Given the description of an element on the screen output the (x, y) to click on. 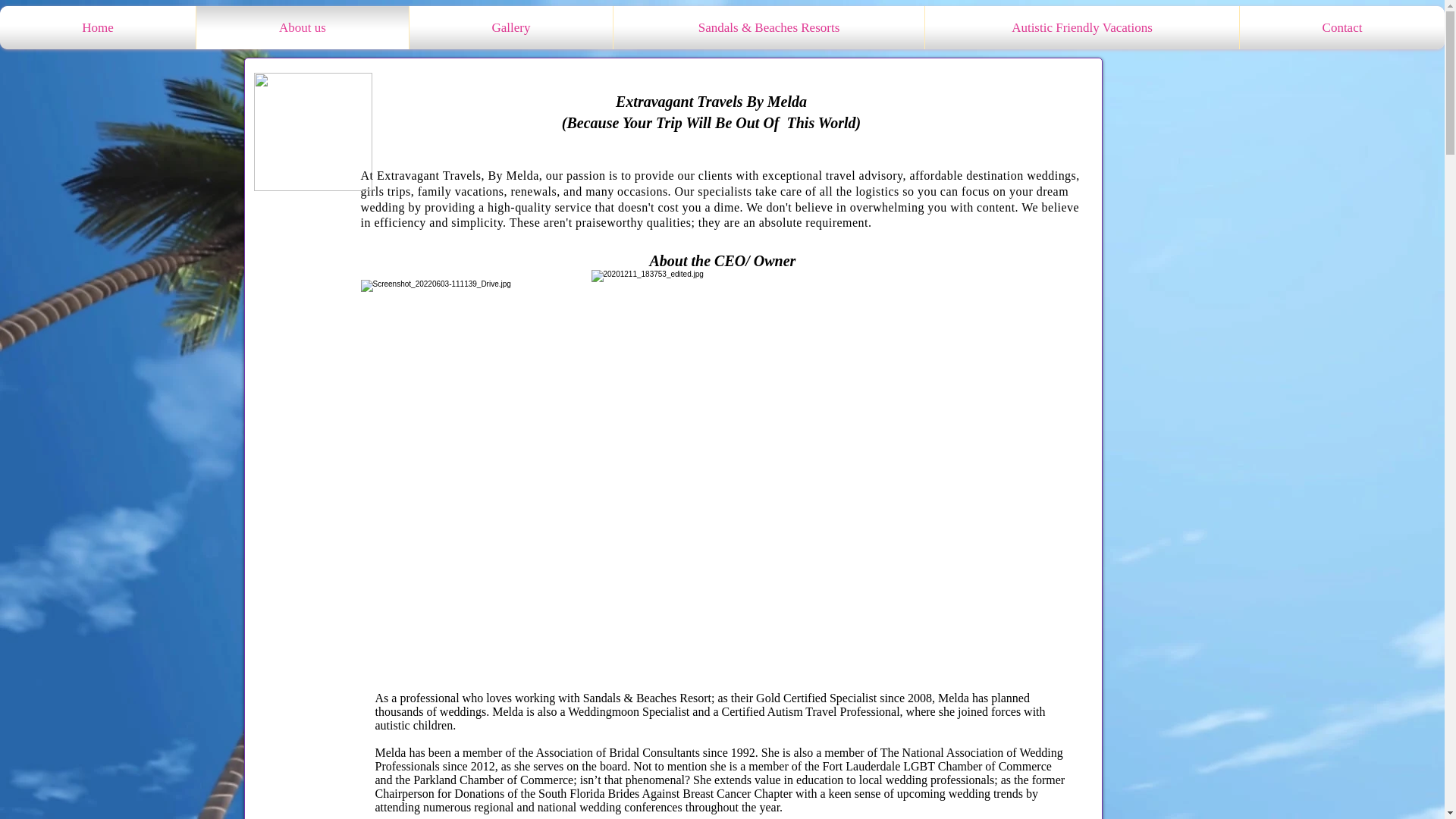
Autistic Friendly Vacations (1081, 27)
About us (302, 27)
Gallery (510, 27)
Home (98, 27)
Contact (1342, 27)
